Given the description of an element on the screen output the (x, y) to click on. 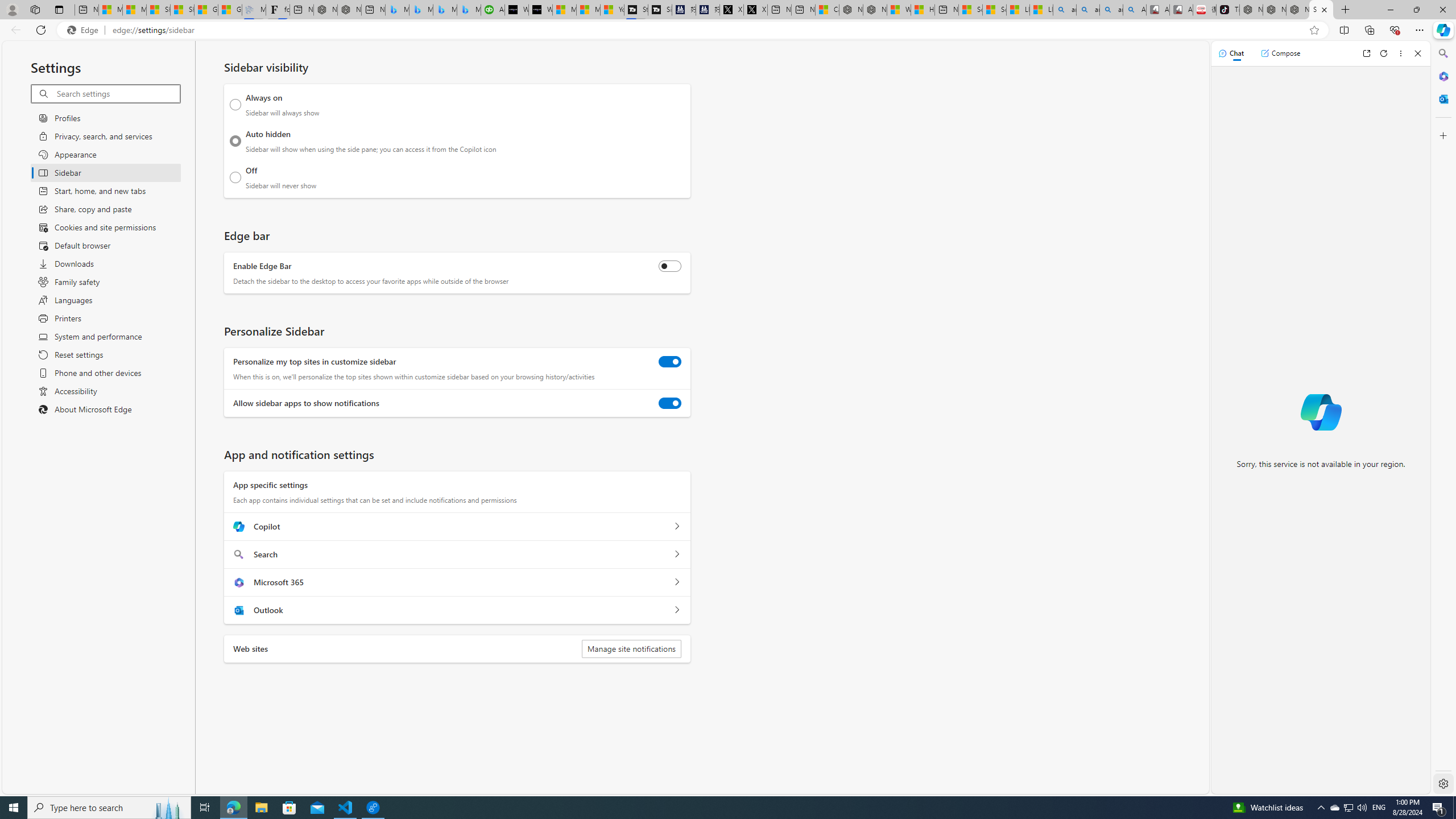
Gilma and Hector both pose tropical trouble for Hawaii (229, 9)
Nordace - Best Sellers (1251, 9)
Microsoft Bing Travel - Shangri-La Hotel Bangkok (469, 9)
